Given the description of an element on the screen output the (x, y) to click on. 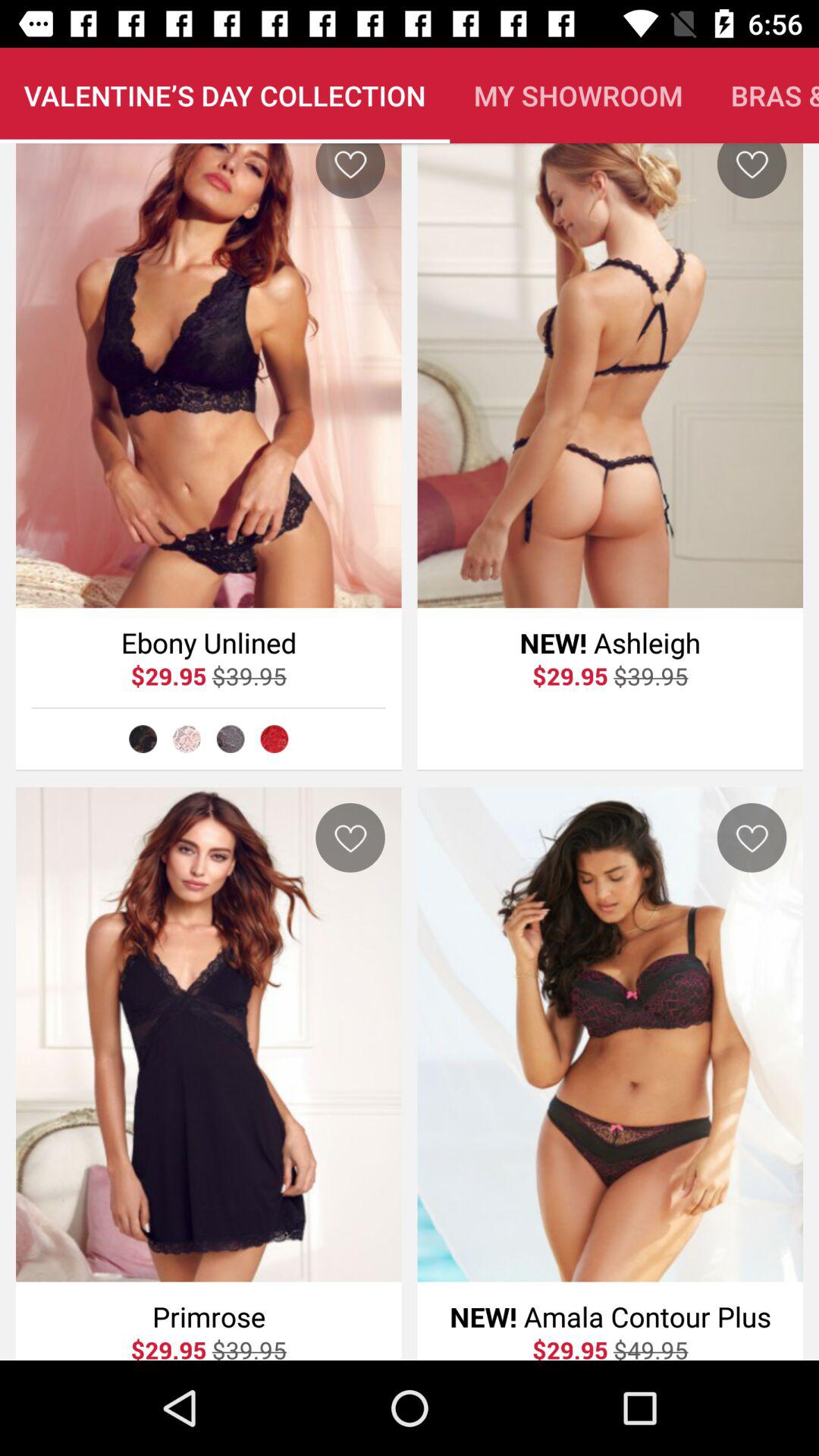
color selection (230, 738)
